Given the description of an element on the screen output the (x, y) to click on. 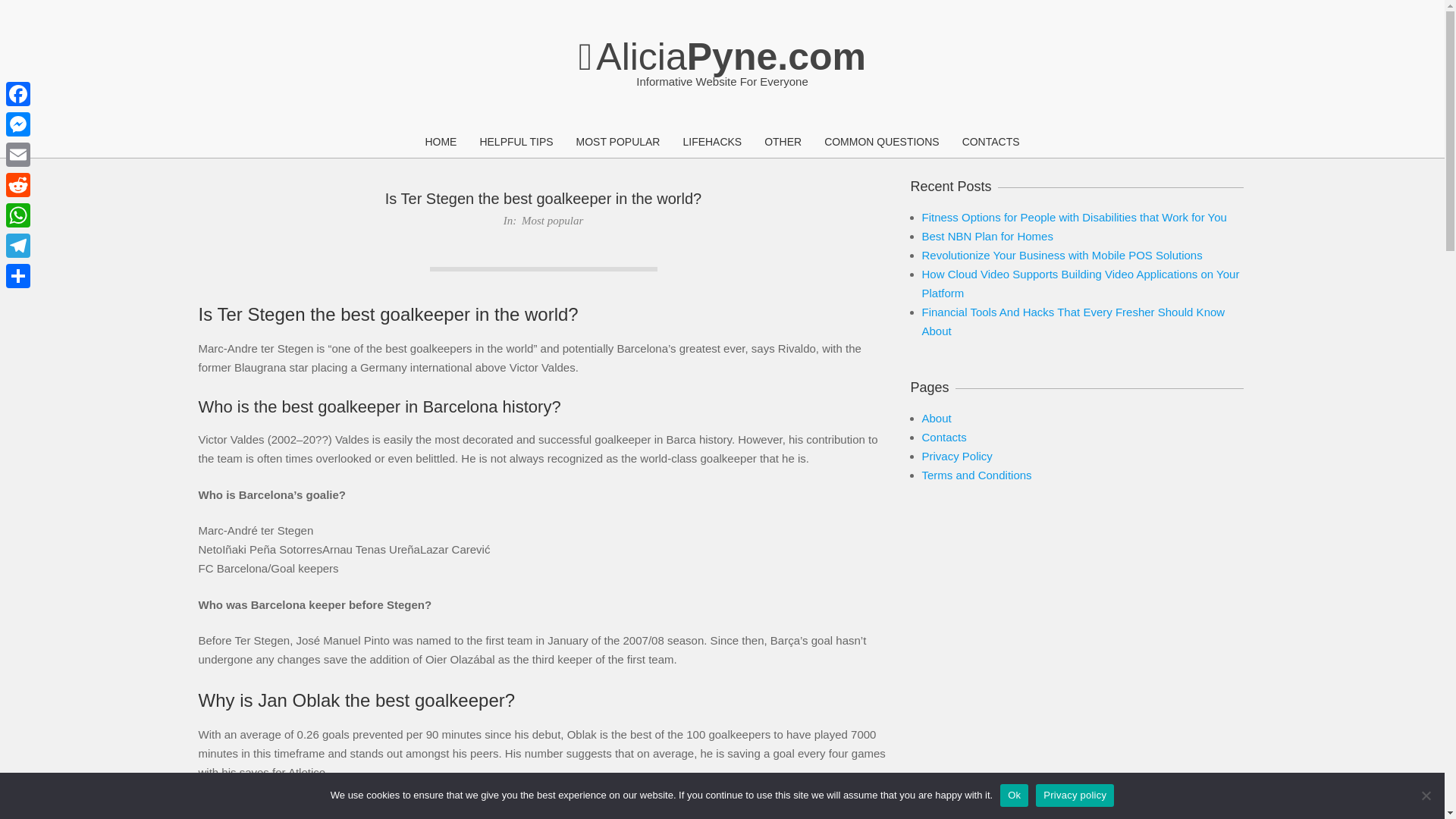
Privacy Policy (956, 455)
Revolutionize Your Business with Mobile POS Solutions (1061, 254)
About (936, 418)
No (1425, 795)
Telegram (17, 245)
CONTACTS (990, 142)
Facebook (17, 93)
WhatsApp (17, 214)
Email (17, 154)
HOME (440, 142)
Messenger (17, 123)
HELPFUL TIPS (515, 142)
MOST POPULAR (617, 142)
Contacts (943, 436)
